Given the description of an element on the screen output the (x, y) to click on. 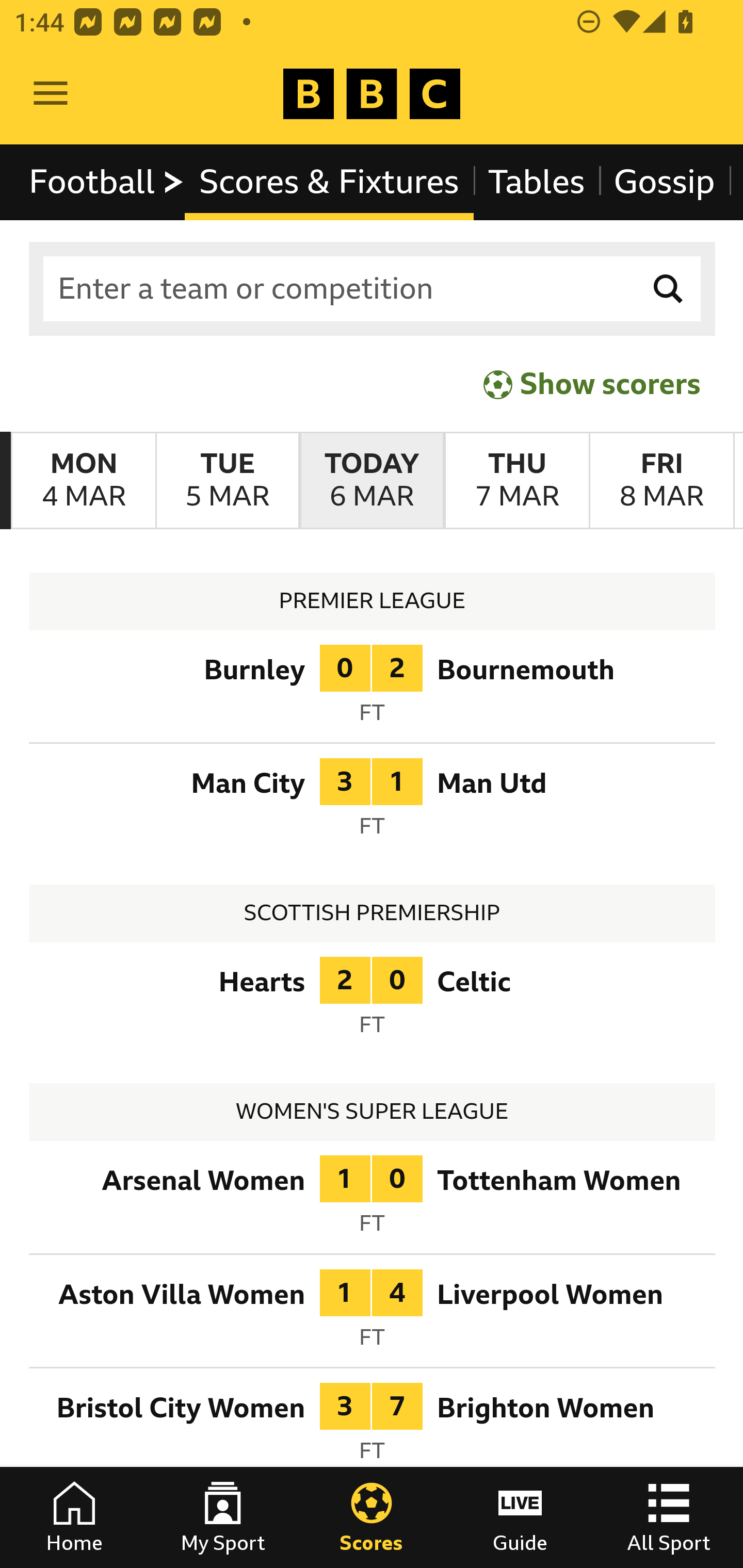
Open Menu (50, 93)
Football  (106, 181)
Scores & Fixtures (329, 181)
Tables (536, 181)
Gossip (664, 181)
Search (669, 289)
Show scorers (591, 383)
MondayMarch 4th Monday March 4th (83, 480)
TuesdayMarch 5th Tuesday March 5th (227, 480)
TodayMarch 6th Today March 6th (371, 480)
ThursdayMarch 7th Thursday March 7th (516, 480)
FridayMarch 8th Friday March 8th (661, 480)
68395538 Burnley 0 AFC Bournemouth 2 Full Time (372, 689)
68395495 Heart of Midlothian 2 Celtic 0 Full Time (372, 1002)
Home (74, 1517)
My Sport (222, 1517)
Guide (519, 1517)
All Sport (668, 1517)
